Given the description of an element on the screen output the (x, y) to click on. 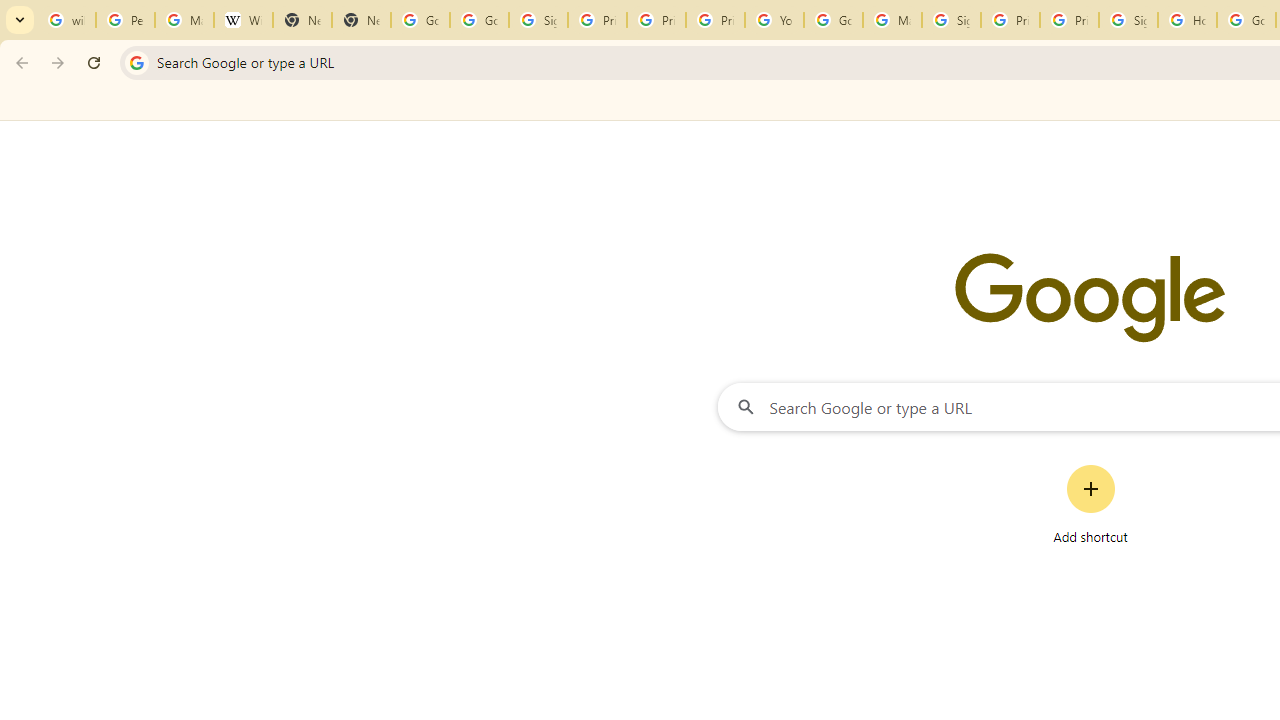
Sign in - Google Accounts (950, 20)
Manage your Location History - Google Search Help (183, 20)
Wikipedia:Edit requests - Wikipedia (242, 20)
Add shortcut (1090, 504)
New Tab (360, 20)
